Given the description of an element on the screen output the (x, y) to click on. 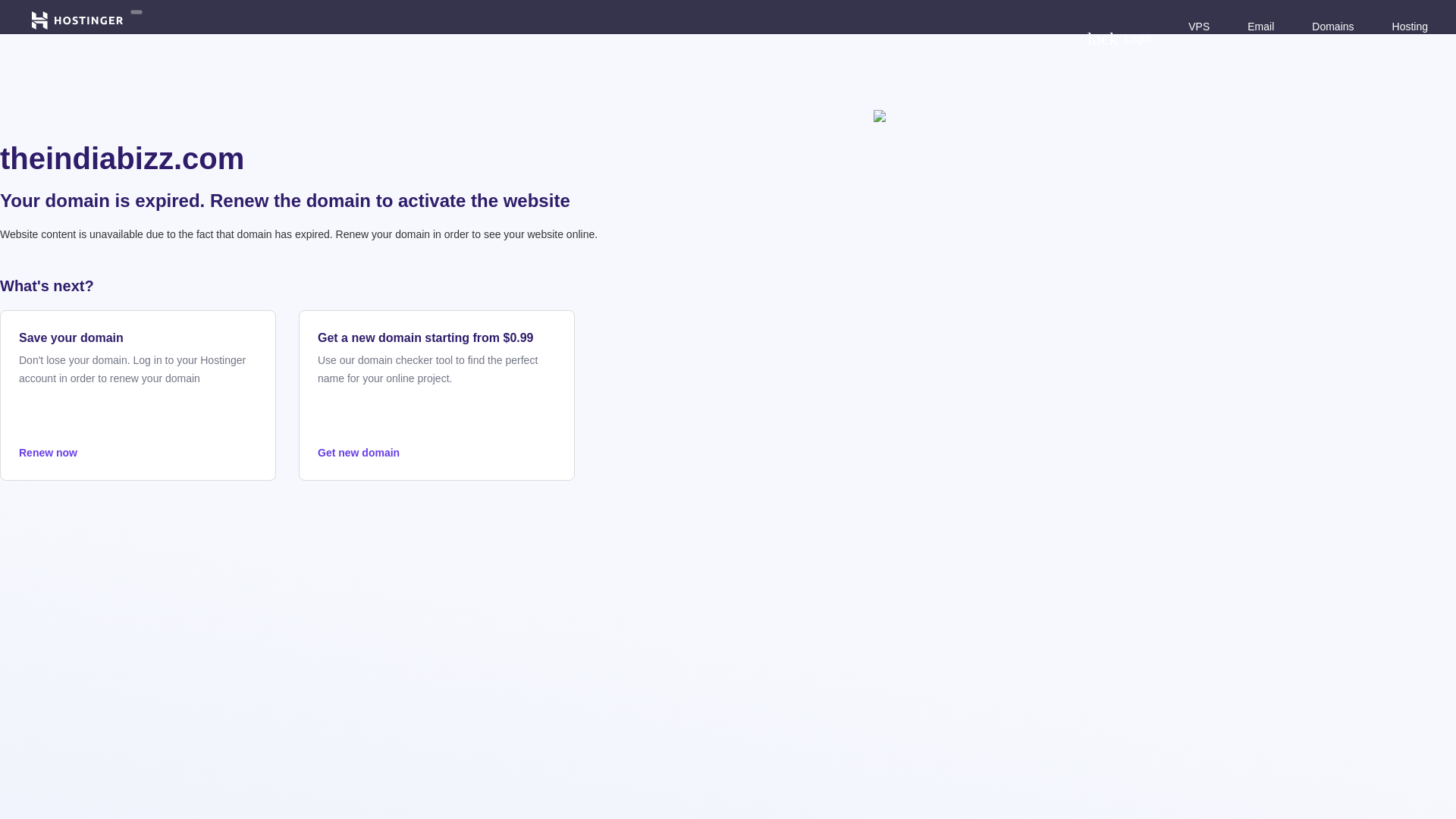
Get new domain (436, 452)
Renew now (1118, 38)
Domains (137, 452)
Hosting (1331, 25)
